Given the description of an element on the screen output the (x, y) to click on. 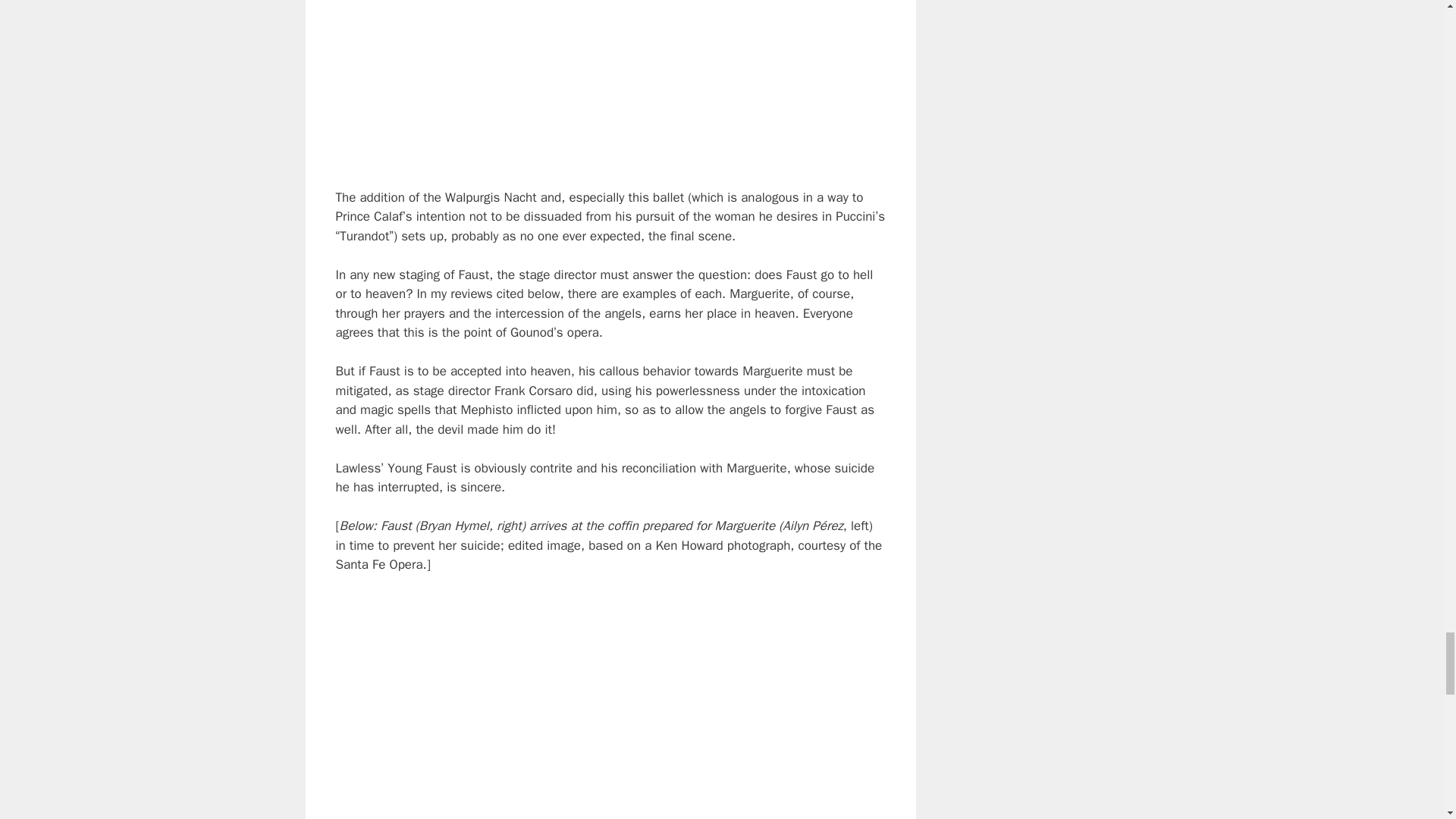
CLEOPATRA AND FAUST (609, 84)
